Given the description of an element on the screen output the (x, y) to click on. 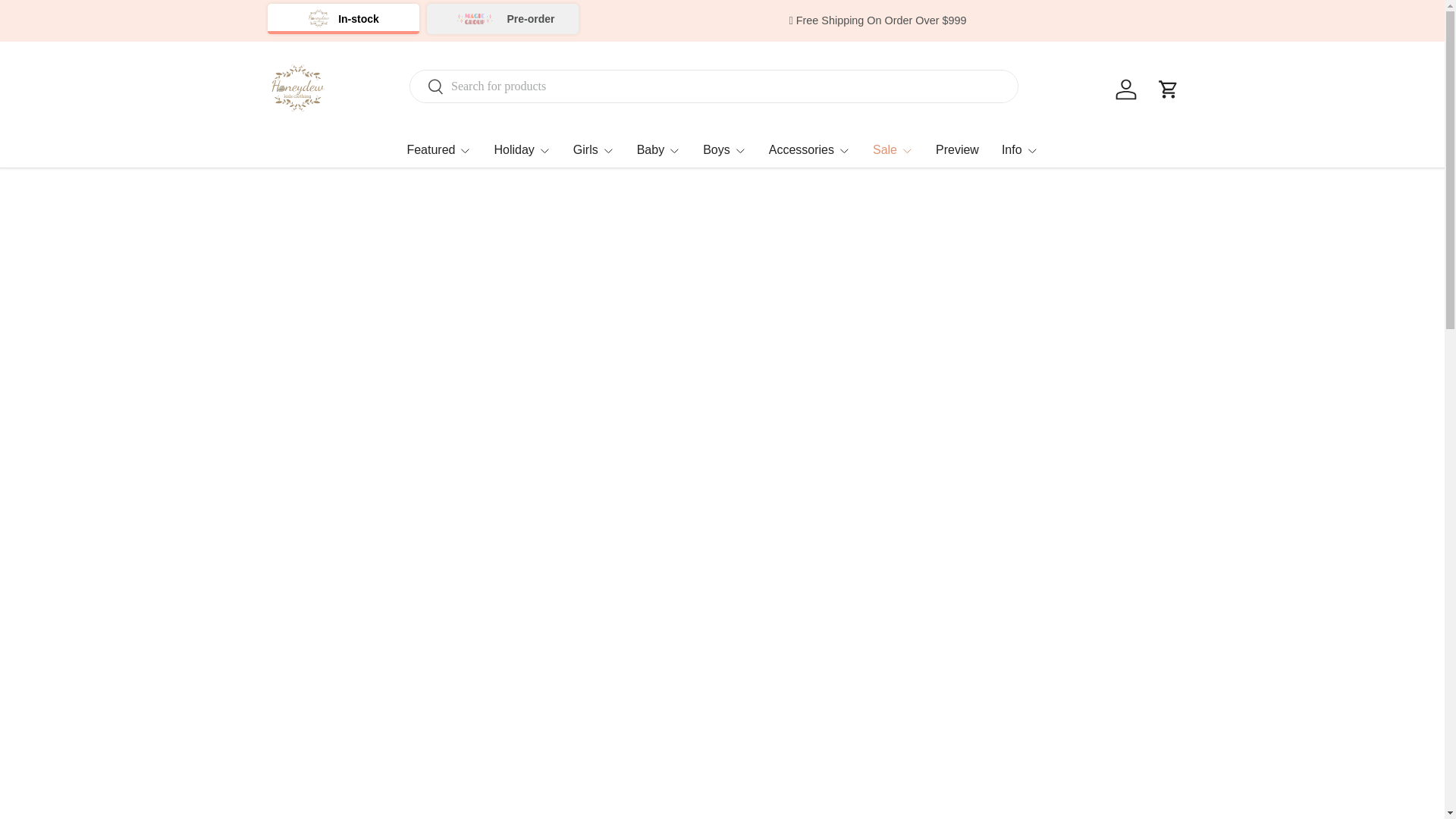
Featured (438, 148)
Pre-order (502, 19)
Cart (1168, 89)
Log in (1124, 89)
In-stock (342, 19)
Search (427, 87)
SKIP TO CONTENT (64, 21)
